Given the description of an element on the screen output the (x, y) to click on. 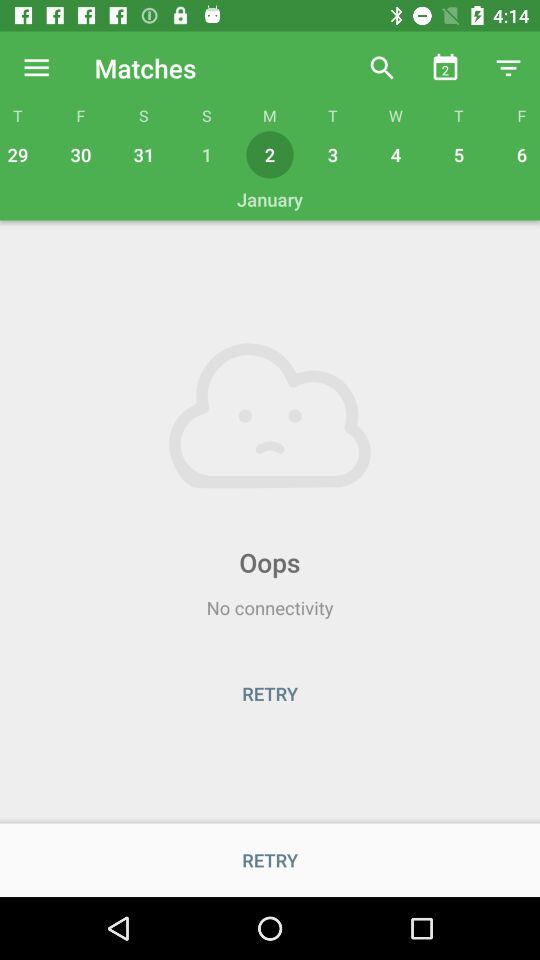
launch the 5 icon (458, 154)
